Given the description of an element on the screen output the (x, y) to click on. 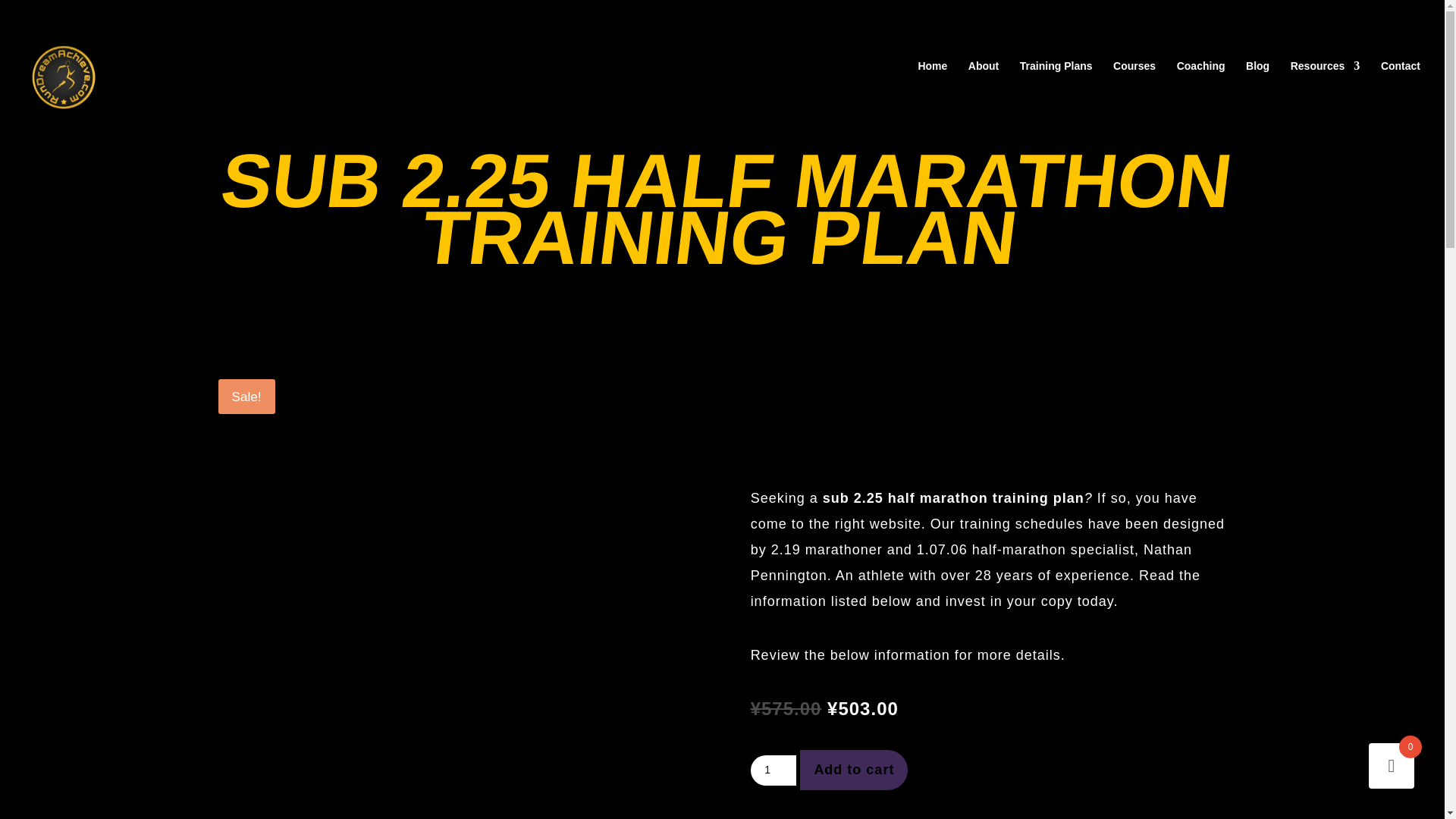
1 (773, 770)
Coaching (1200, 84)
Resources (1324, 84)
Add to cart (853, 770)
Training Plans (1056, 84)
